Given the description of an element on the screen output the (x, y) to click on. 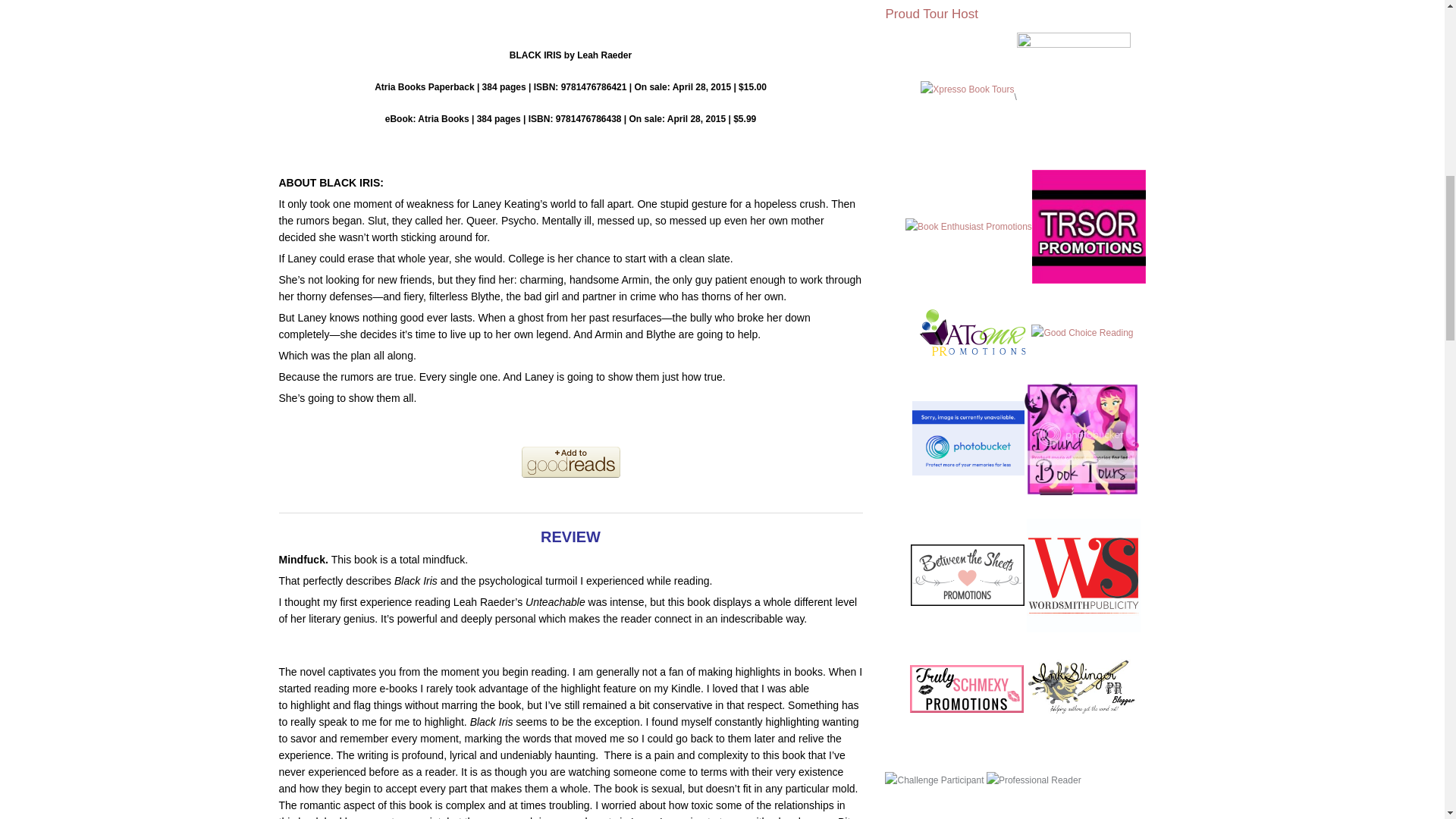
Xpresso Book Tours (966, 96)
Professional Reader (1034, 780)
Challenge Participant (934, 780)
Book Enthusiast Promotions (968, 234)
Itching For Books (968, 445)
